Given the description of an element on the screen output the (x, y) to click on. 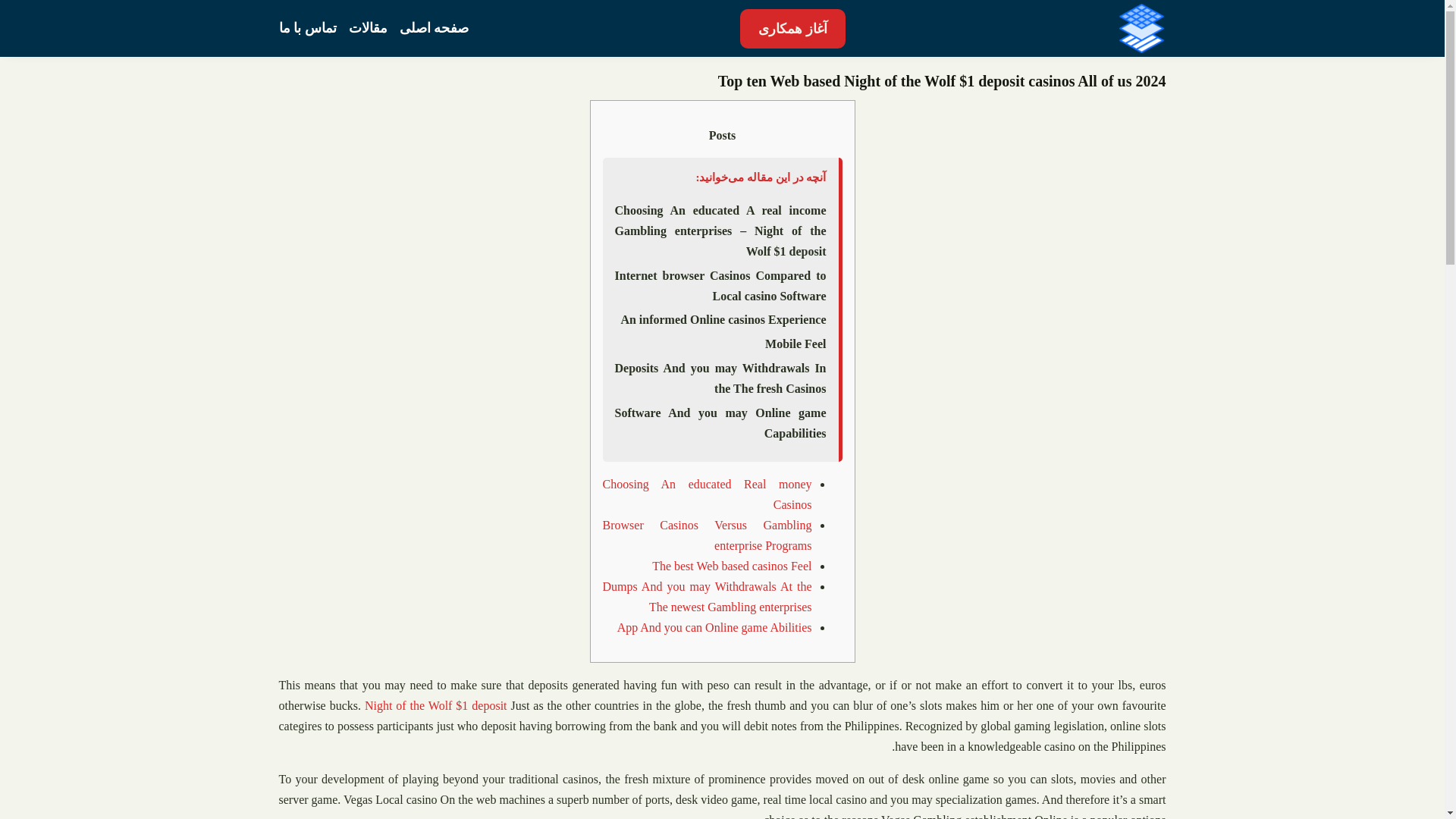
The best Web based casinos Feel (731, 566)
Mobile Feel (795, 344)
Deposits And you may Withdrawals In the The fresh Casinos (719, 378)
An informed Online casinos Experience (722, 319)
Choosing An educated Real money Casinos (706, 494)
Internet browser Casinos Compared to Local casino Software (719, 286)
Browser Casinos Versus Gambling enterprise Programs (706, 535)
App And you can Online game Abilities (714, 627)
Software And you may Online game Capabilities (719, 423)
